Given the description of an element on the screen output the (x, y) to click on. 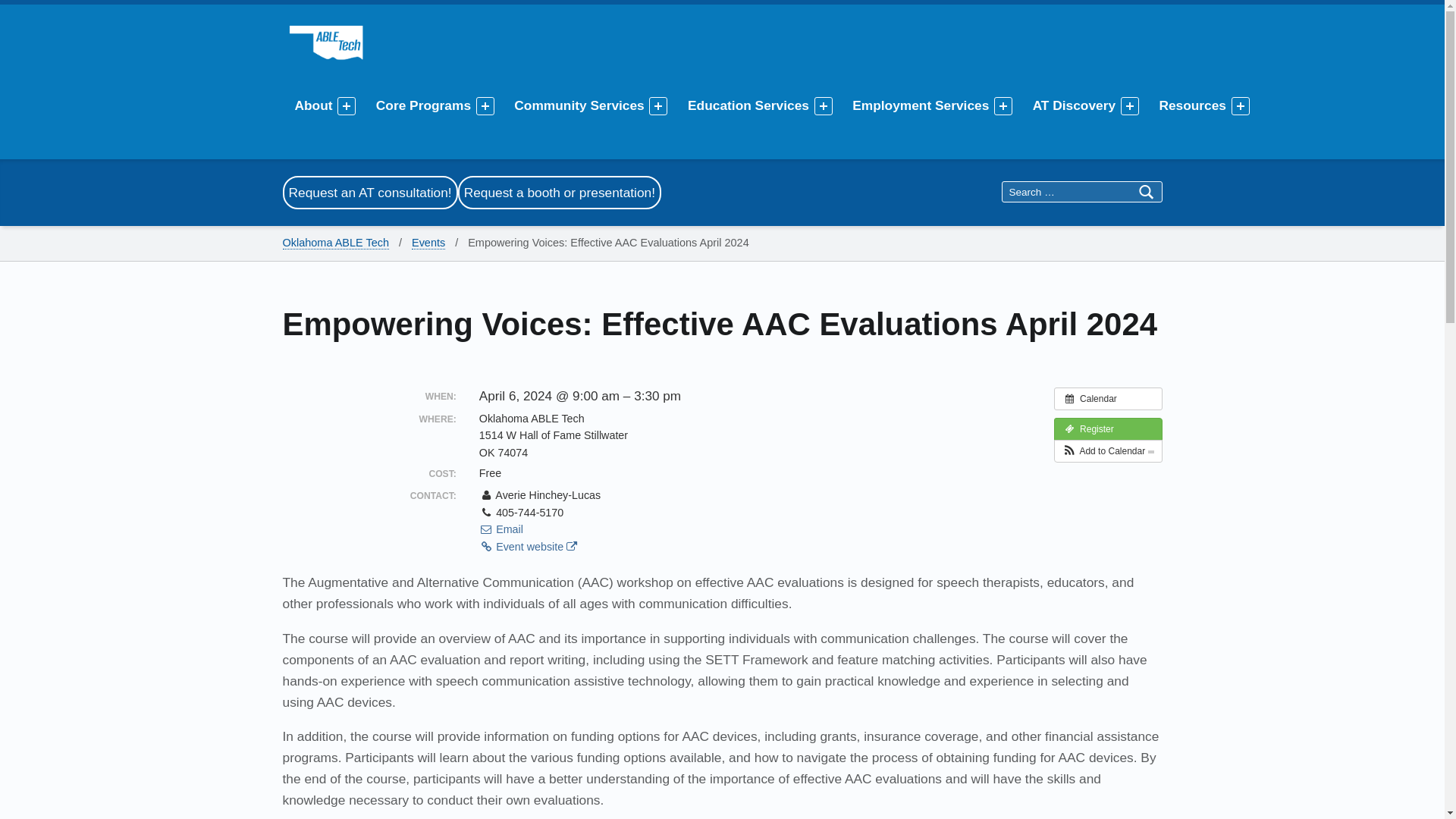
Core Programs (425, 105)
About (315, 105)
AT Discovery (1076, 105)
Employment Services (922, 105)
Education Services (750, 105)
Community Services (581, 105)
